Given the description of an element on the screen output the (x, y) to click on. 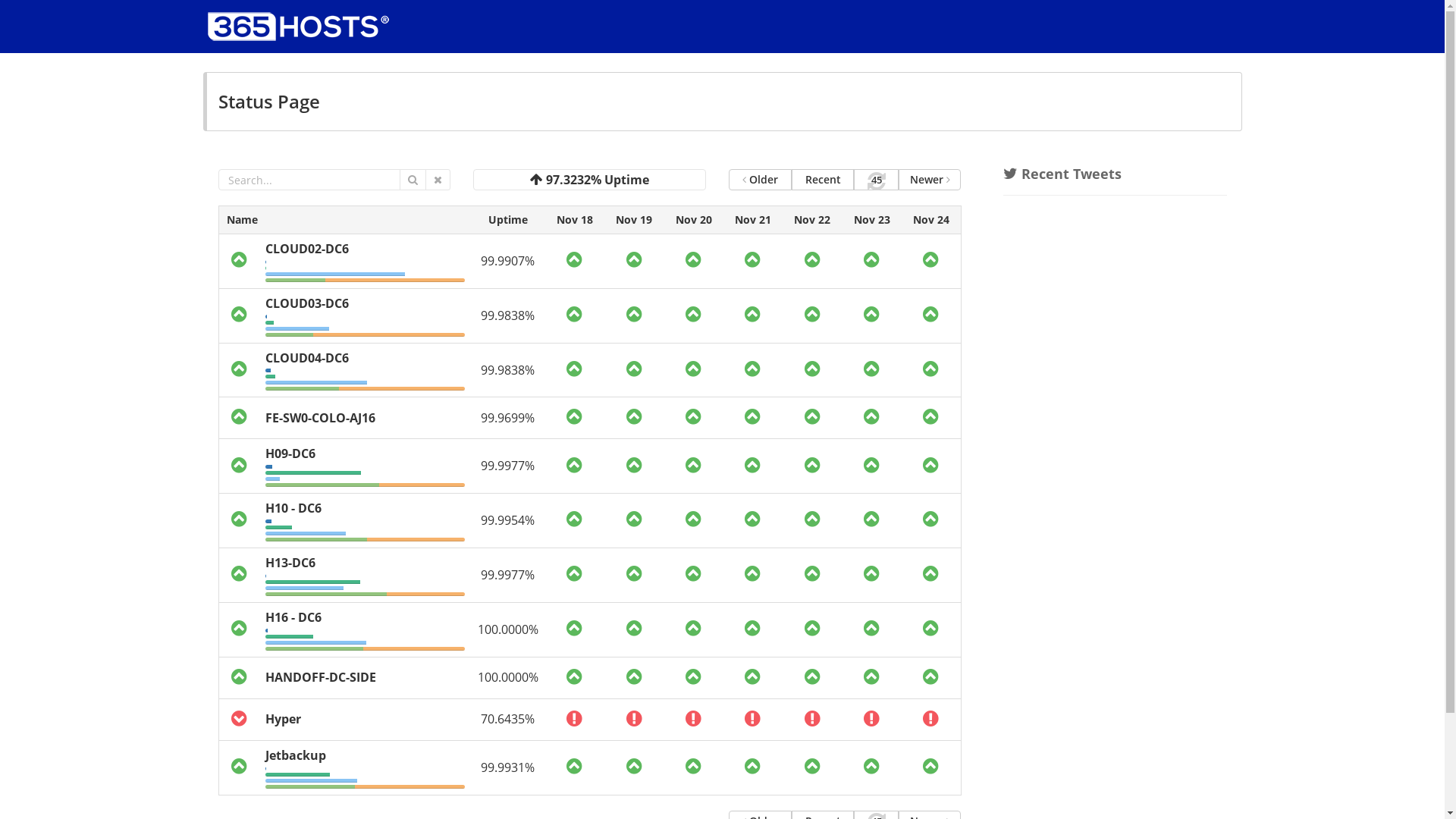
100.0000% Element type: text (507, 629)
99.9838% Element type: text (507, 369)
99.9838% Element type: text (507, 315)
99.9977% Element type: text (507, 574)
99.9907% Element type: text (507, 260)
99.9977% Element type: text (507, 465)
Hyper Element type: text (283, 718)
Older Element type: text (759, 179)
70.6435% Element type: text (507, 718)
Newer Element type: text (929, 179)
49 Element type: text (875, 179)
FE-SW0-COLO-AJ16 Element type: text (320, 417)
H16 - DC6 Element type: text (293, 616)
100.0000% Element type: text (507, 676)
99.9954% Element type: text (507, 519)
H10 - DC6 Element type: text (293, 507)
H13-DC6 Element type: text (290, 562)
99.9699% Element type: text (507, 417)
CLOUD04-DC6 Element type: text (306, 357)
Recent Element type: text (822, 179)
HANDOFF-DC-SIDE Element type: text (320, 676)
CLOUD03-DC6 Element type: text (306, 302)
H09-DC6 Element type: text (290, 453)
Jetbackup Element type: text (295, 754)
CLOUD02-DC6 Element type: text (306, 248)
99.9931% Element type: text (507, 767)
